Given the description of an element on the screen output the (x, y) to click on. 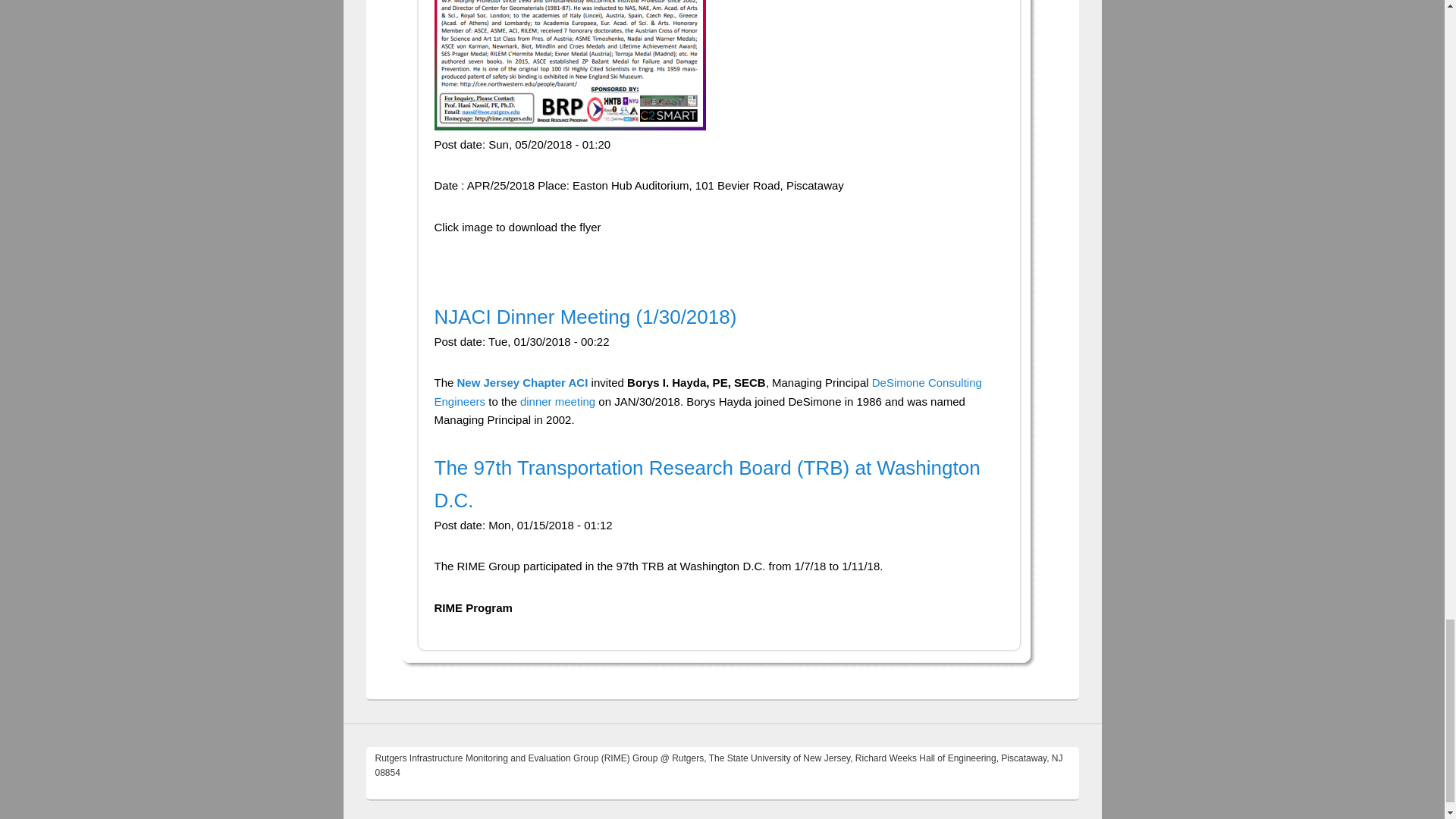
dinner meeting (558, 400)
DeSimone Consulting Engineers (707, 391)
New Jersey Chapter ACI (522, 382)
